Given the description of an element on the screen output the (x, y) to click on. 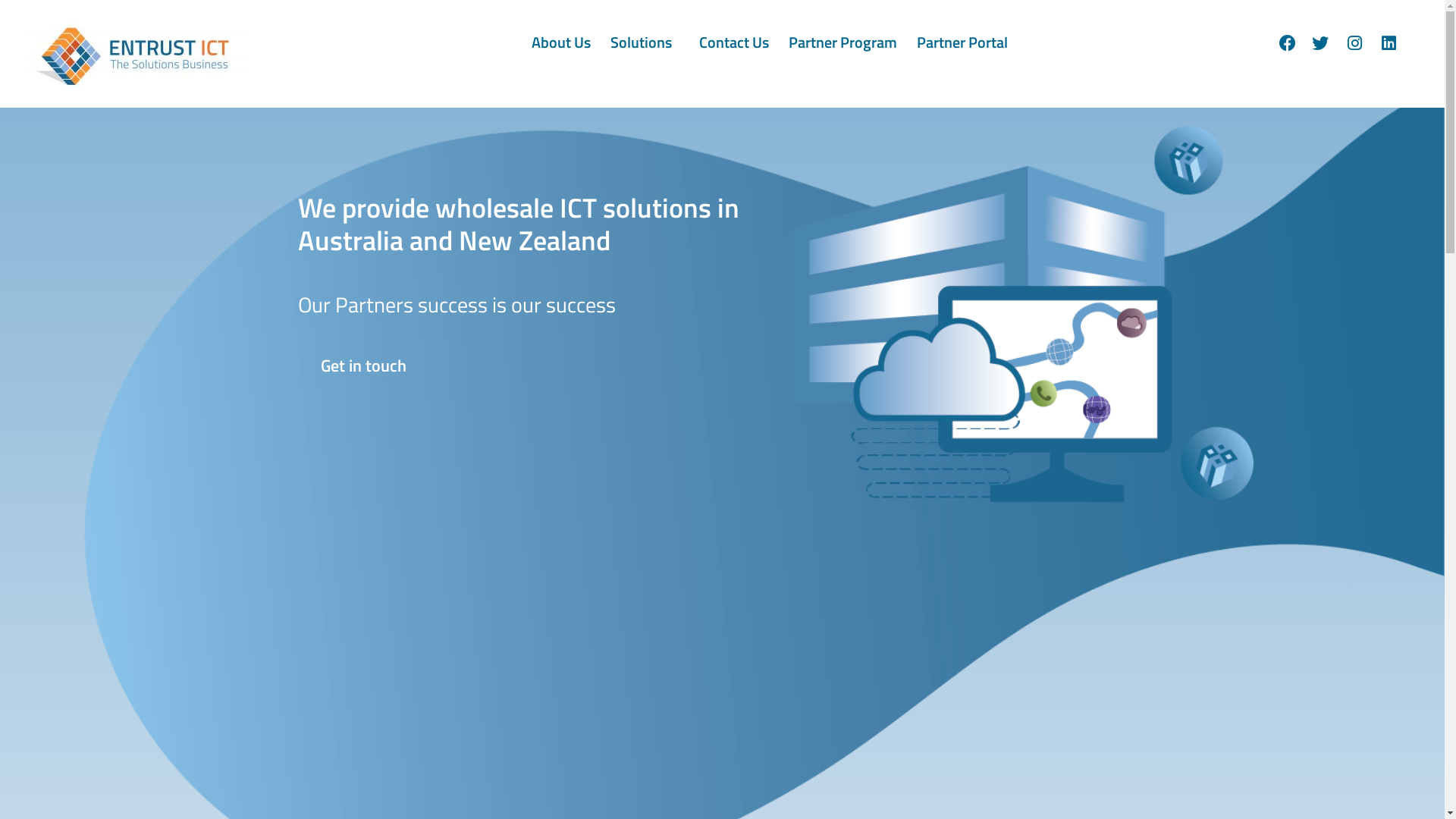
Get in touch Element type: text (362, 365)
Contact Us Element type: text (733, 42)
Partner Program Element type: text (842, 42)
About Us Element type: text (560, 42)
Partner Portal Element type: text (965, 42)
Solutions Element type: text (644, 42)
